Given the description of an element on the screen output the (x, y) to click on. 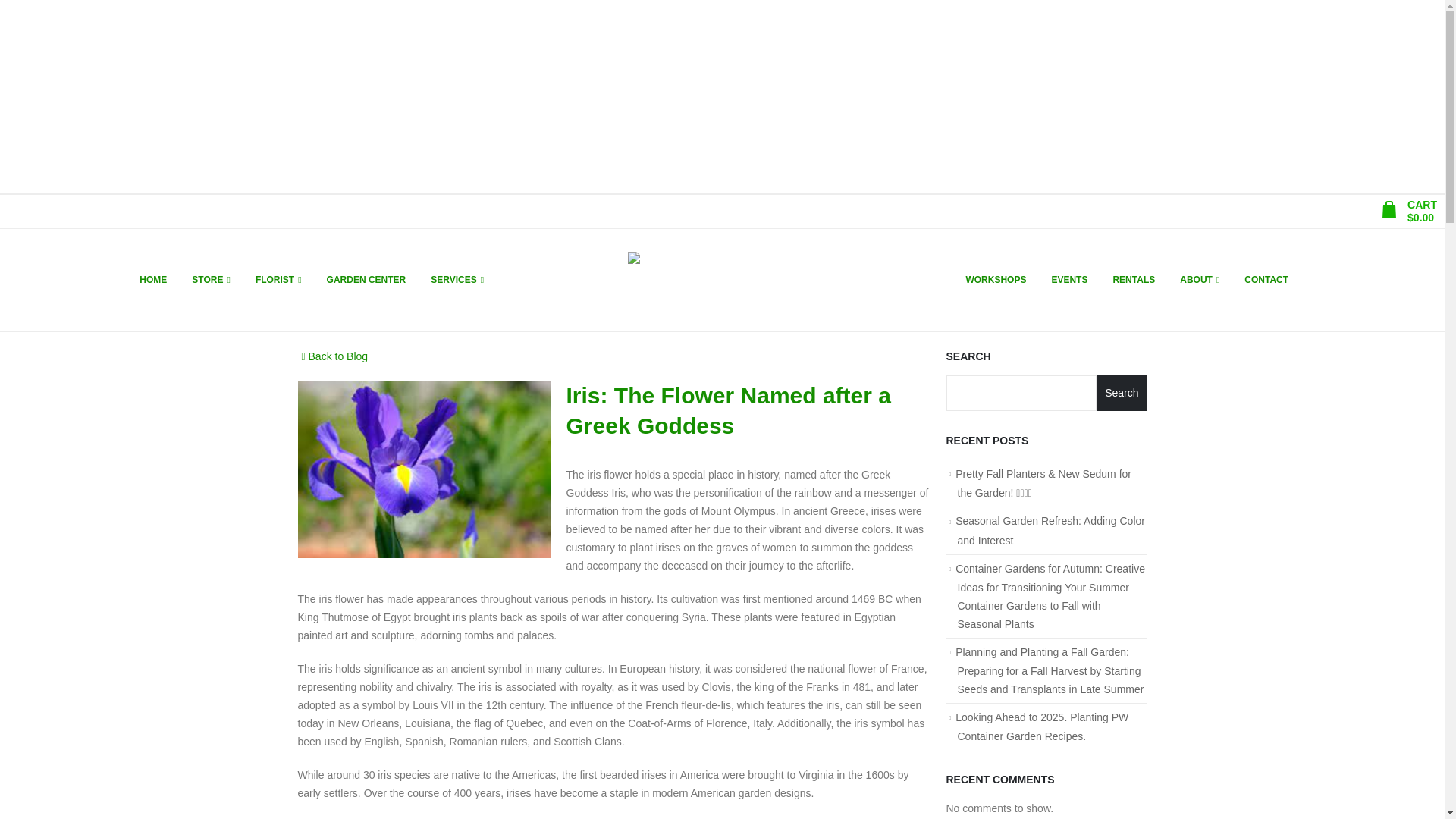
GARDEN CENTER (366, 279)
SERVICES (457, 279)
RENTALS (1133, 279)
HOME (153, 279)
EVENTS (1069, 279)
ABOUT (1199, 279)
WORKSHOPS (995, 279)
STORE (211, 279)
CONTACT (1265, 279)
